Given the description of an element on the screen output the (x, y) to click on. 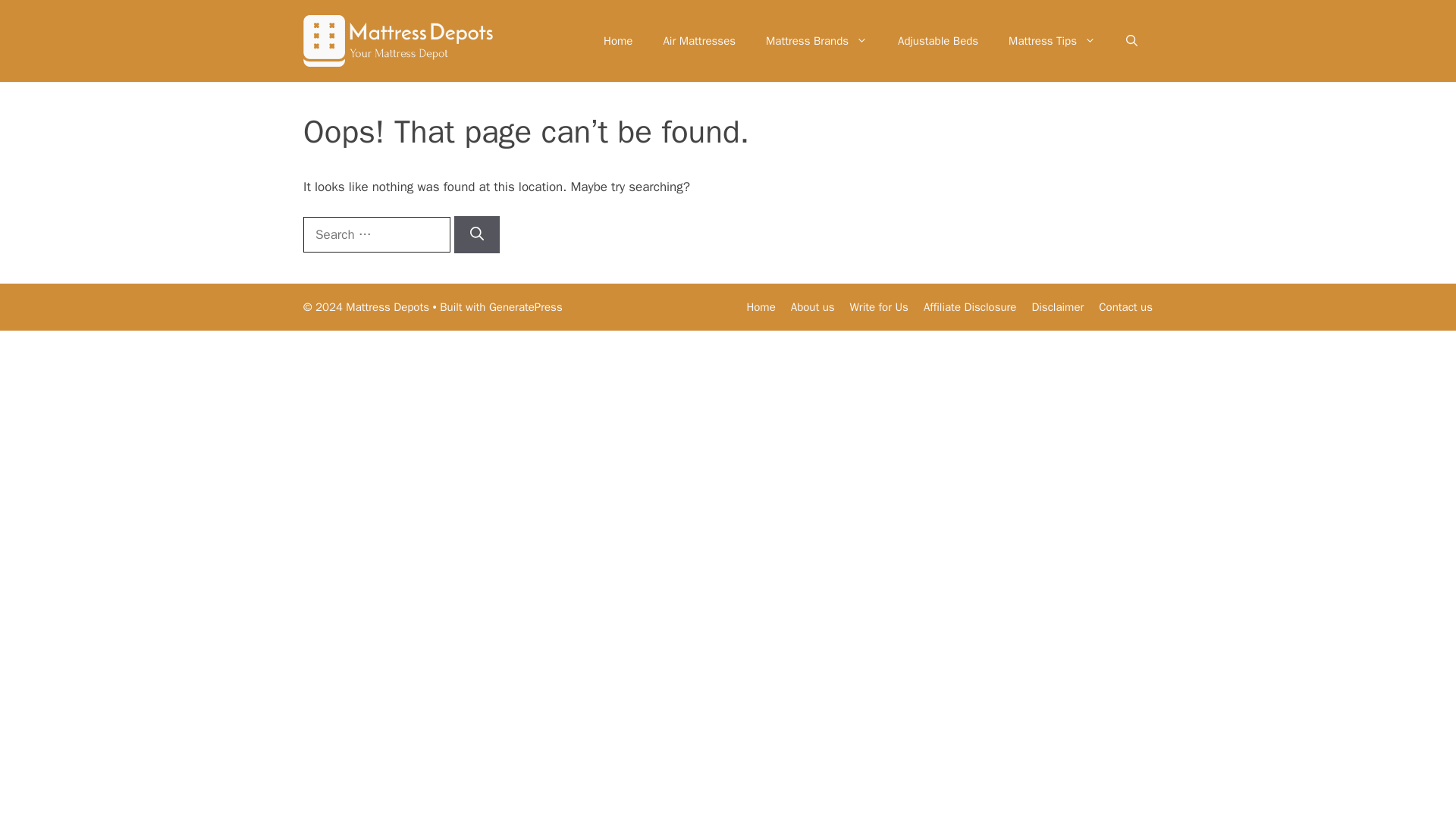
Adjustable Beds (937, 40)
Air Mattresses (699, 40)
Search for: (375, 235)
Mattress Brands (816, 40)
Affiliate Disclosure (969, 306)
Home (617, 40)
Write for Us (879, 306)
GeneratePress (525, 306)
Contact us (1126, 306)
Disclaimer (1056, 306)
Home (759, 306)
About us (812, 306)
Mattress Tips (1051, 40)
